Given the description of an element on the screen output the (x, y) to click on. 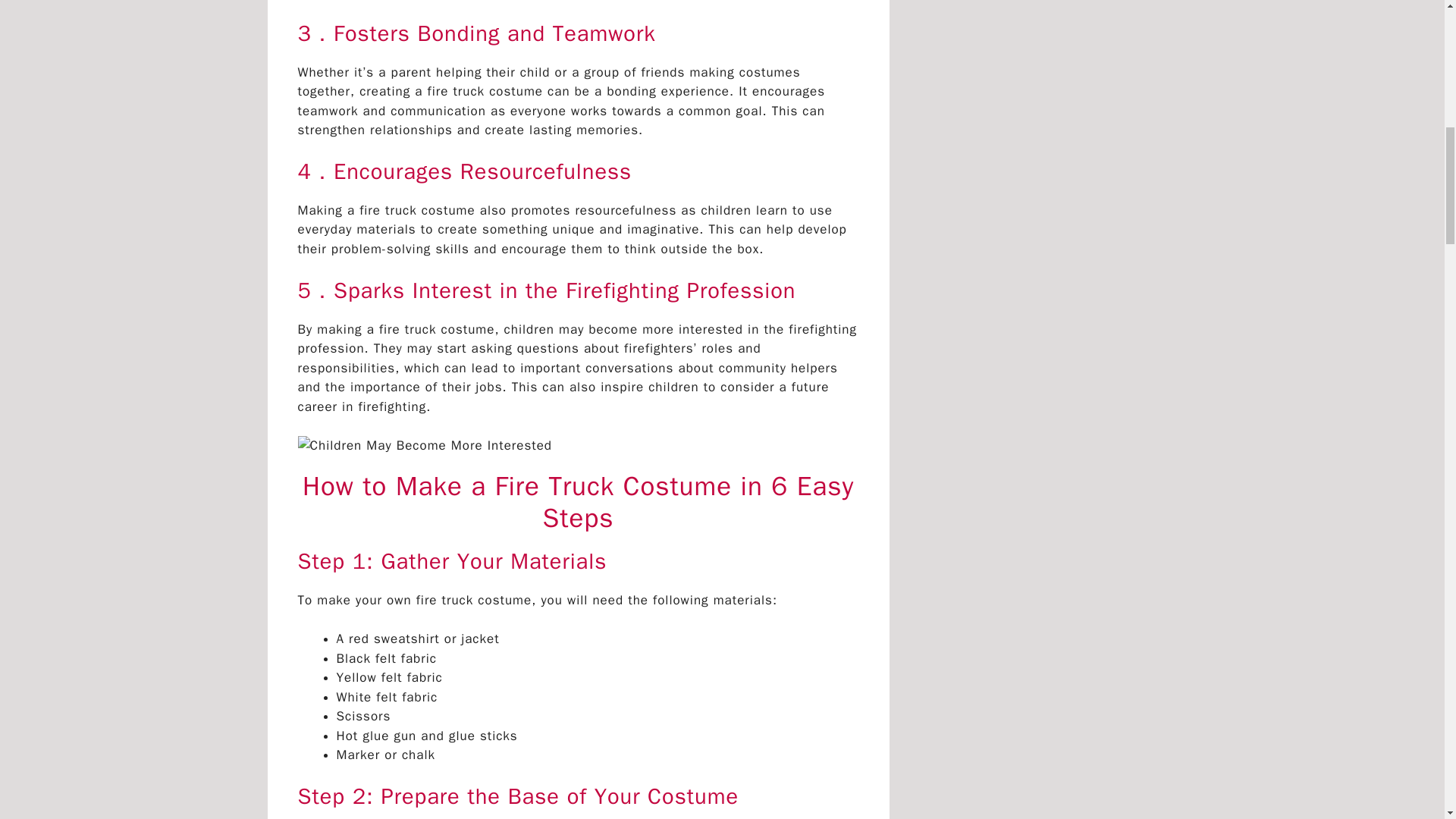
Scroll back to top (1406, 720)
